Given the description of an element on the screen output the (x, y) to click on. 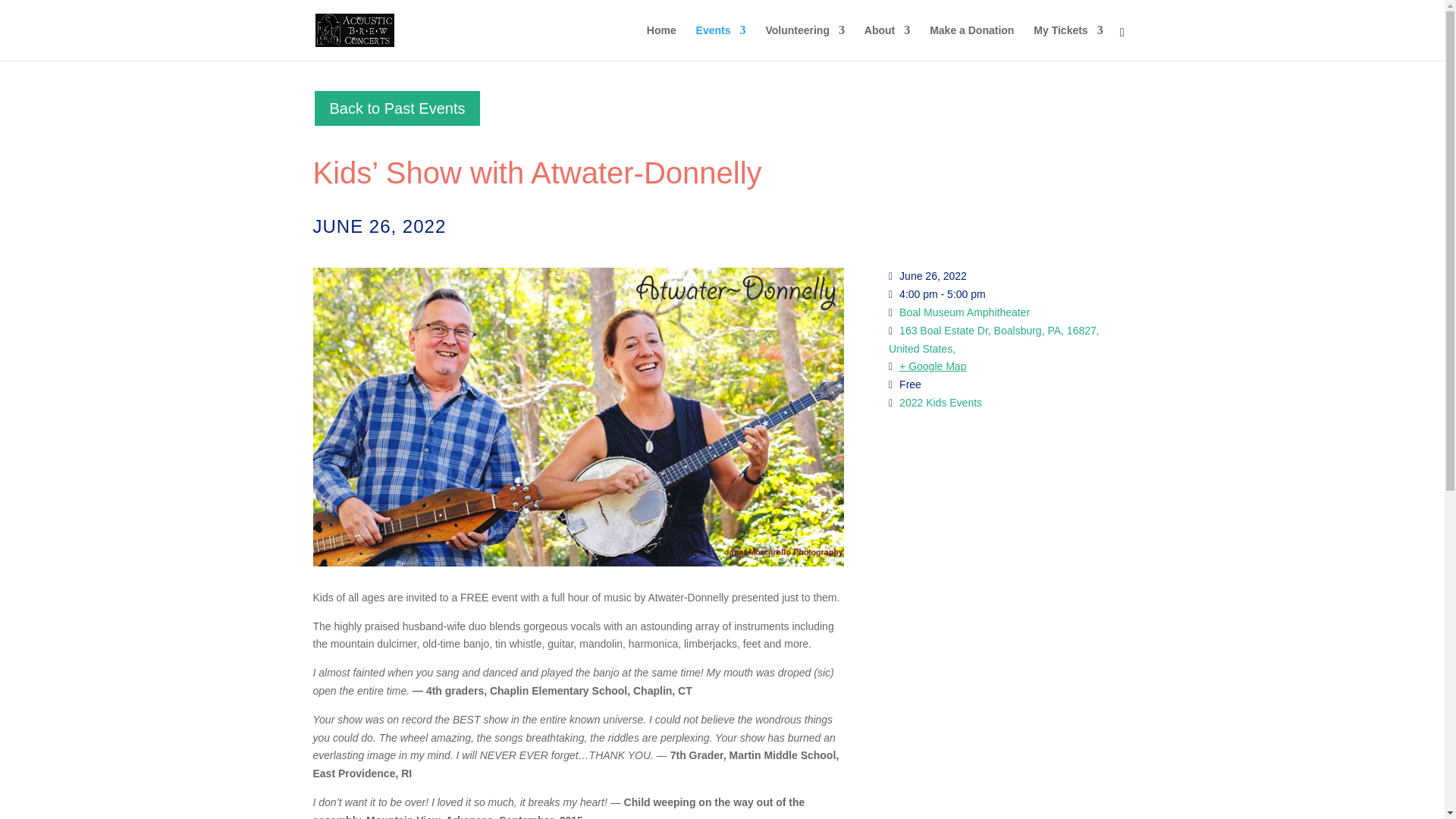
My Tickets (1067, 42)
About (887, 42)
Volunteering (804, 42)
Events (720, 42)
Back to Past Events (397, 108)
Make a Donation (971, 42)
Click to view a Google Map (932, 366)
